Given the description of an element on the screen output the (x, y) to click on. 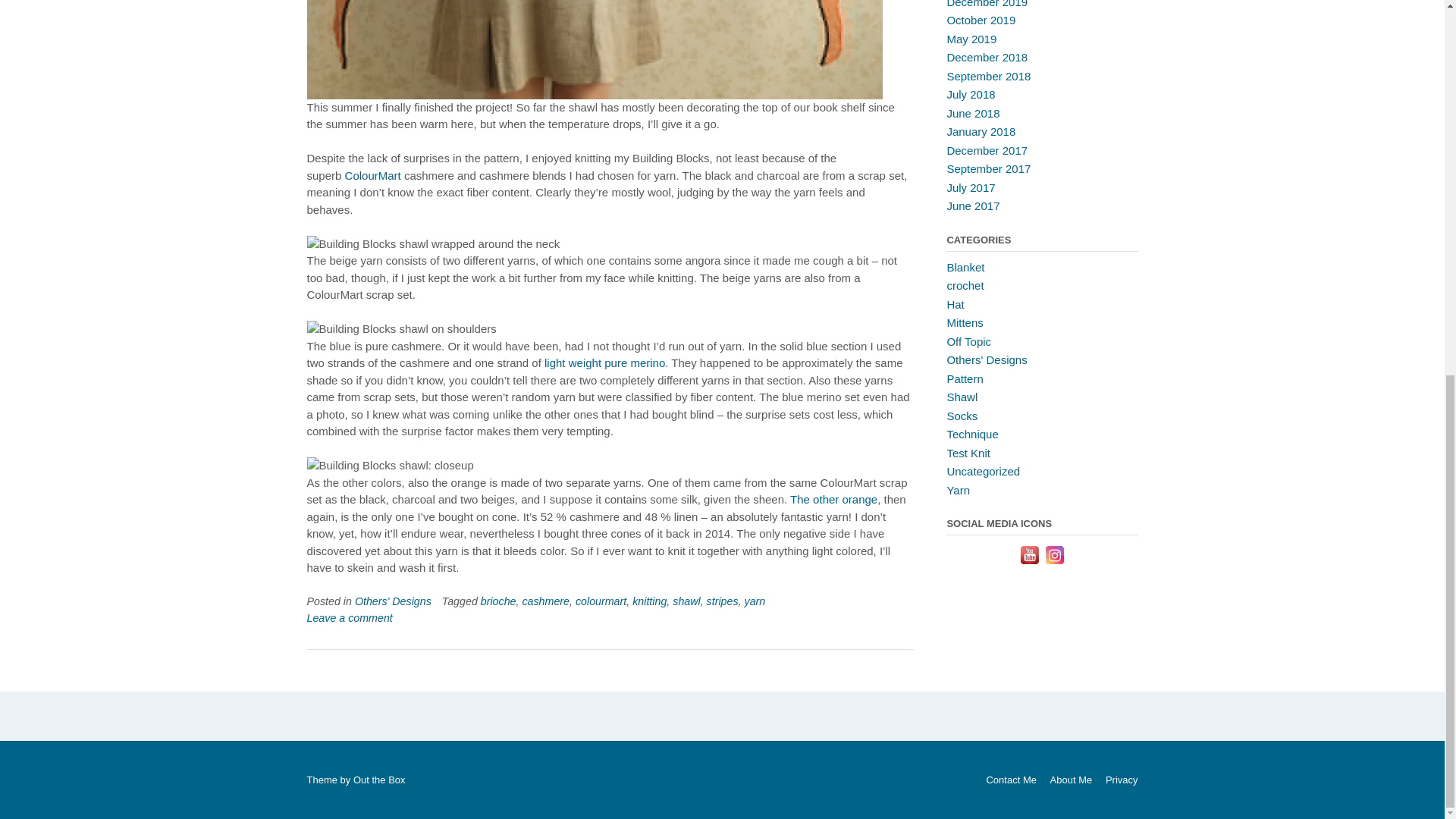
yarn (754, 601)
Others' Designs (392, 601)
brioche (498, 601)
light weight pure merino (604, 362)
ColourMart (373, 174)
Visit Us On Instagram (1054, 562)
cashmere (545, 601)
Visit Us On Youtube (1029, 562)
knitting (648, 601)
stripes (722, 601)
shawl (686, 601)
Leave a comment (348, 617)
The other orange (833, 499)
colourmart (600, 601)
